Given the description of an element on the screen output the (x, y) to click on. 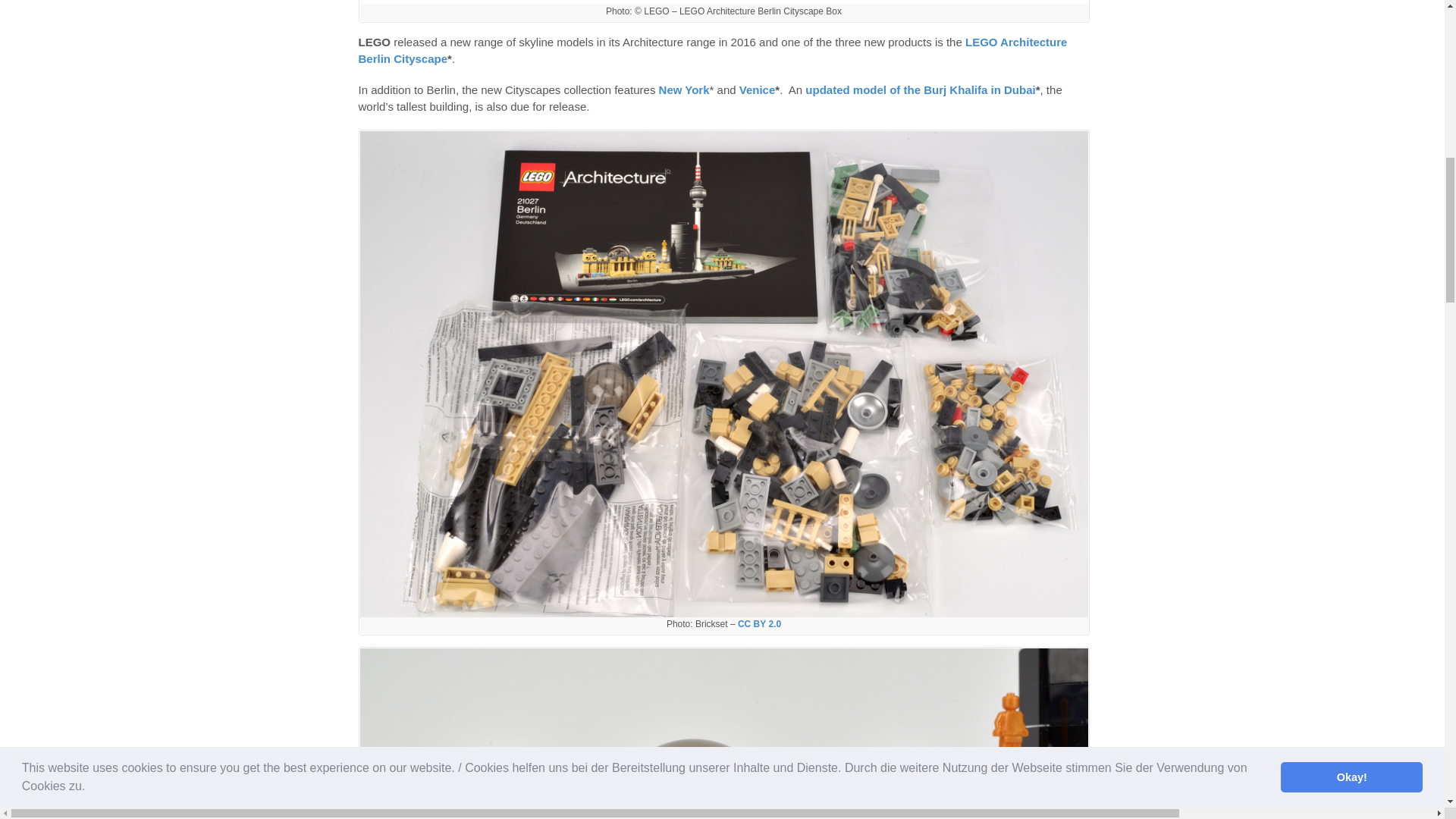
Venice (757, 89)
LEGO Architecture Berlin Cityscape (712, 51)
New York (684, 89)
CC BY 2.0 (759, 624)
updated model of the Burj Khalifa in Dubai (920, 89)
